Given the description of an element on the screen output the (x, y) to click on. 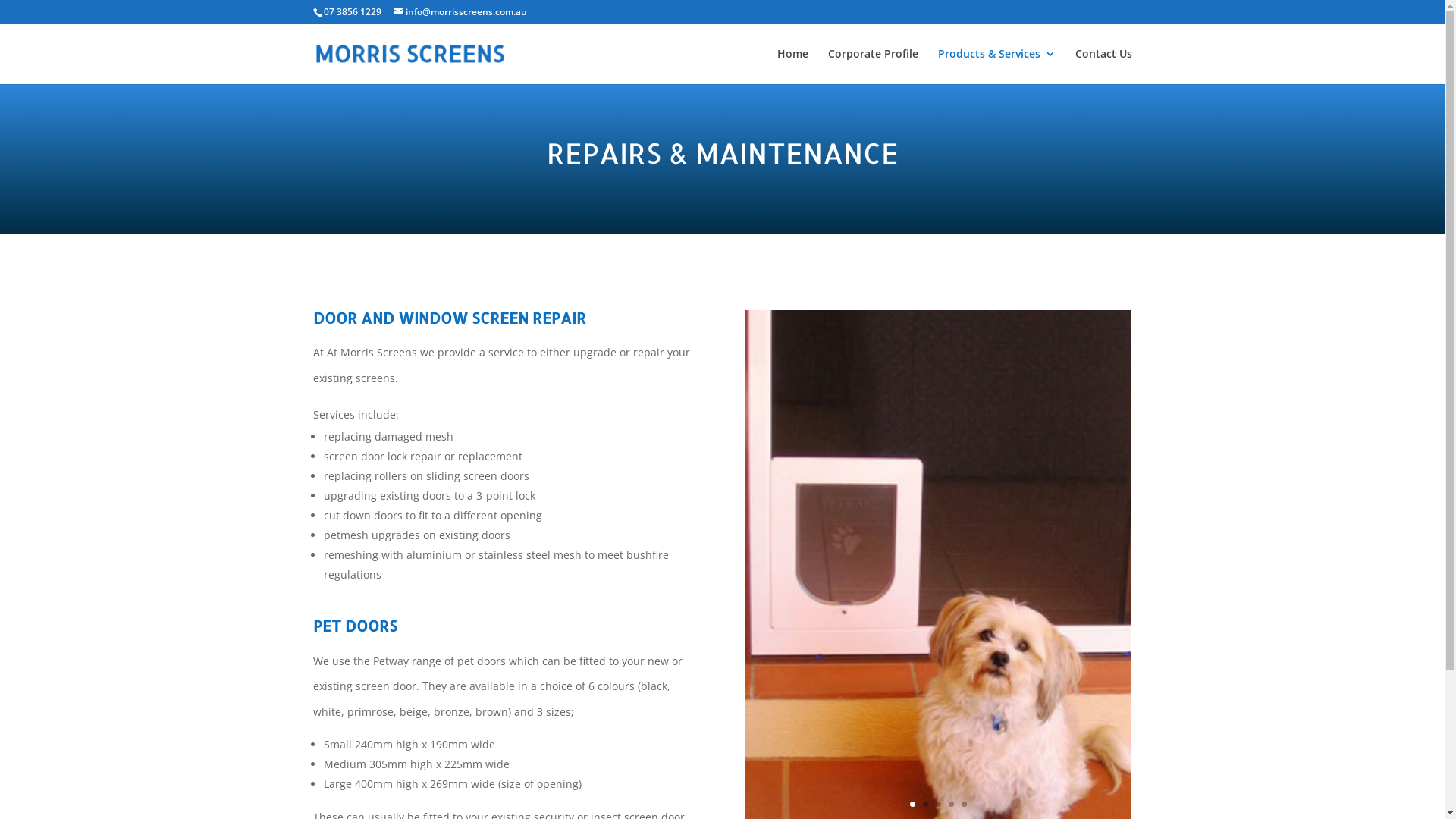
info@morrisscreens.com.au Element type: text (459, 11)
Home Element type: text (791, 66)
4 Element type: text (950, 803)
Contact Us Element type: text (1103, 66)
5 Element type: text (963, 803)
Products & Services Element type: text (995, 66)
Corporate Profile Element type: text (873, 66)
1 Element type: text (912, 803)
2 Element type: text (925, 803)
3 Element type: text (938, 803)
